Given the description of an element on the screen output the (x, y) to click on. 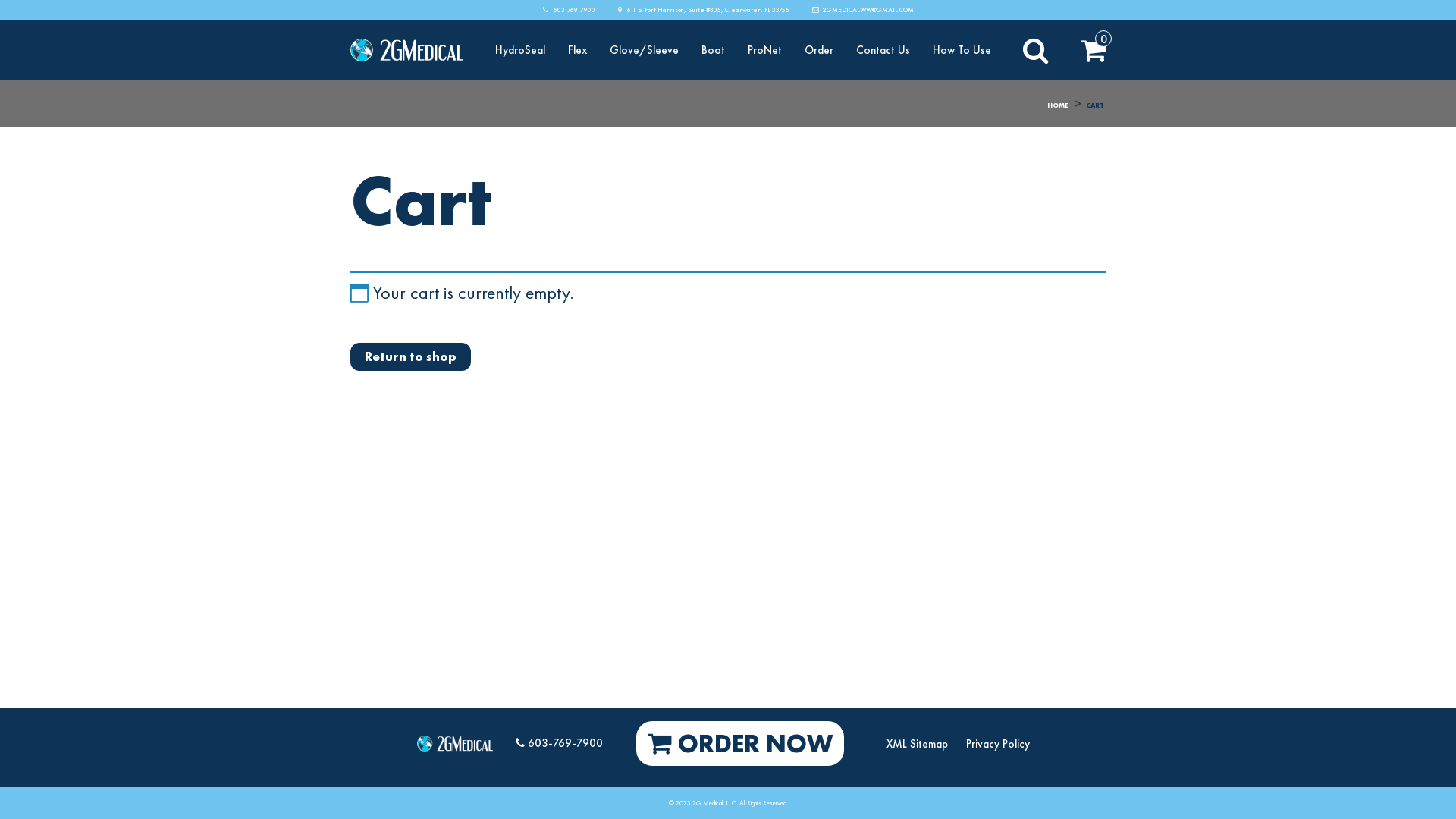
2GMEDICALWW@GMAIL.COM Element type: text (862, 9)
603-769-7900 Element type: text (558, 742)
Order Element type: text (818, 49)
Flex Element type: text (576, 49)
HOME Element type: text (1057, 104)
Return to shop Element type: text (410, 356)
Contact Us Element type: text (883, 49)
Boot Element type: text (712, 49)
ProNet Element type: text (764, 49)
Glove/Sleeve Element type: text (643, 49)
HydroSeal Element type: text (520, 49)
603-769-7900 Element type: text (568, 9)
611 S. Fort Harrison, Suite #305, Clearwater, FL 33756 Element type: text (702, 9)
Privacy Policy Element type: text (997, 743)
XML Sitemap Element type: text (916, 743)
0 Element type: text (1092, 49)
How To Use Element type: text (961, 49)
ORDER NOW Element type: text (740, 743)
